Given the description of an element on the screen output the (x, y) to click on. 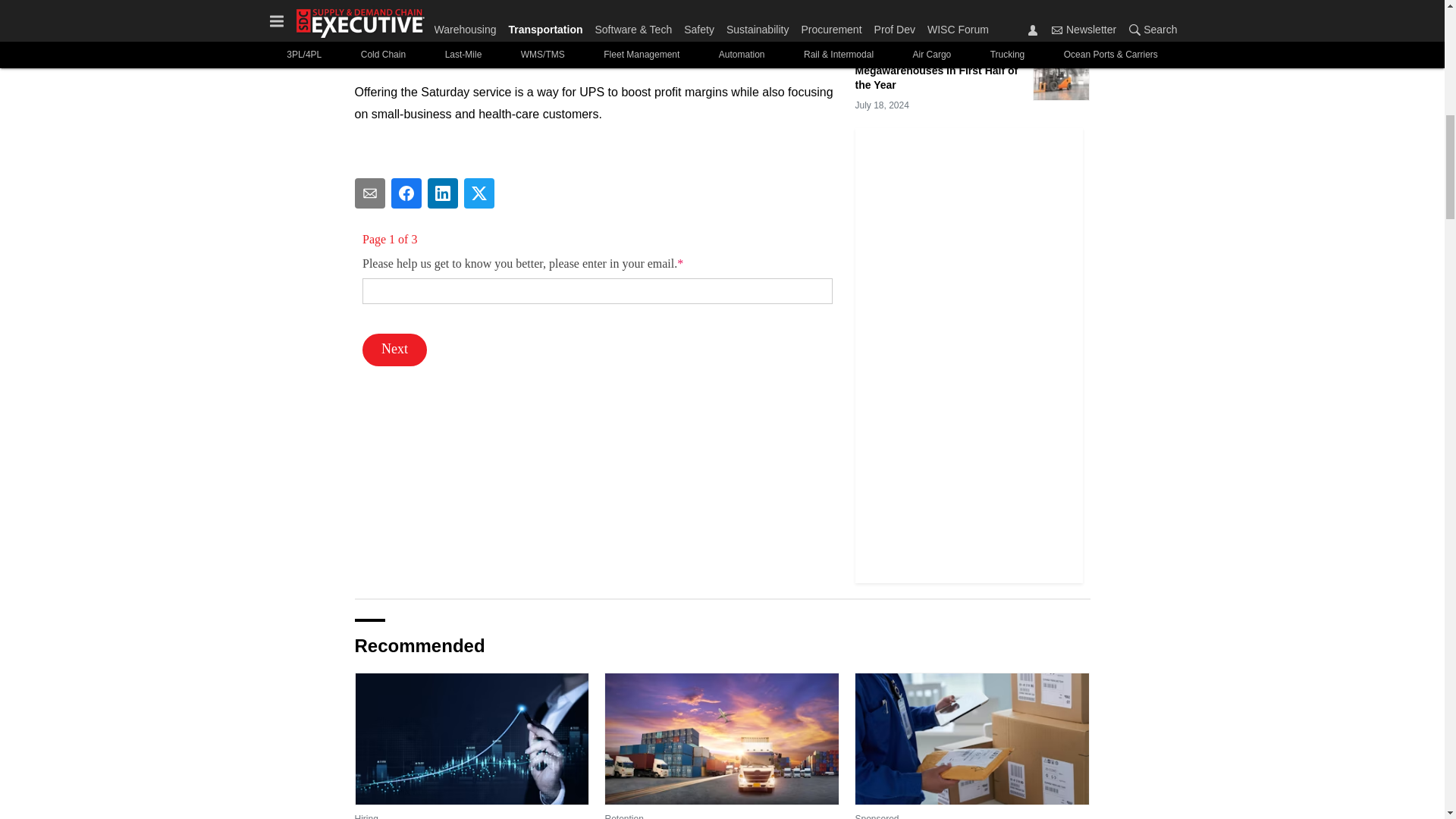
Share To email (370, 193)
Share To facebook (406, 193)
Share To twitter (479, 193)
Interaction questions (597, 298)
Share To linkedin (443, 193)
